Given the description of an element on the screen output the (x, y) to click on. 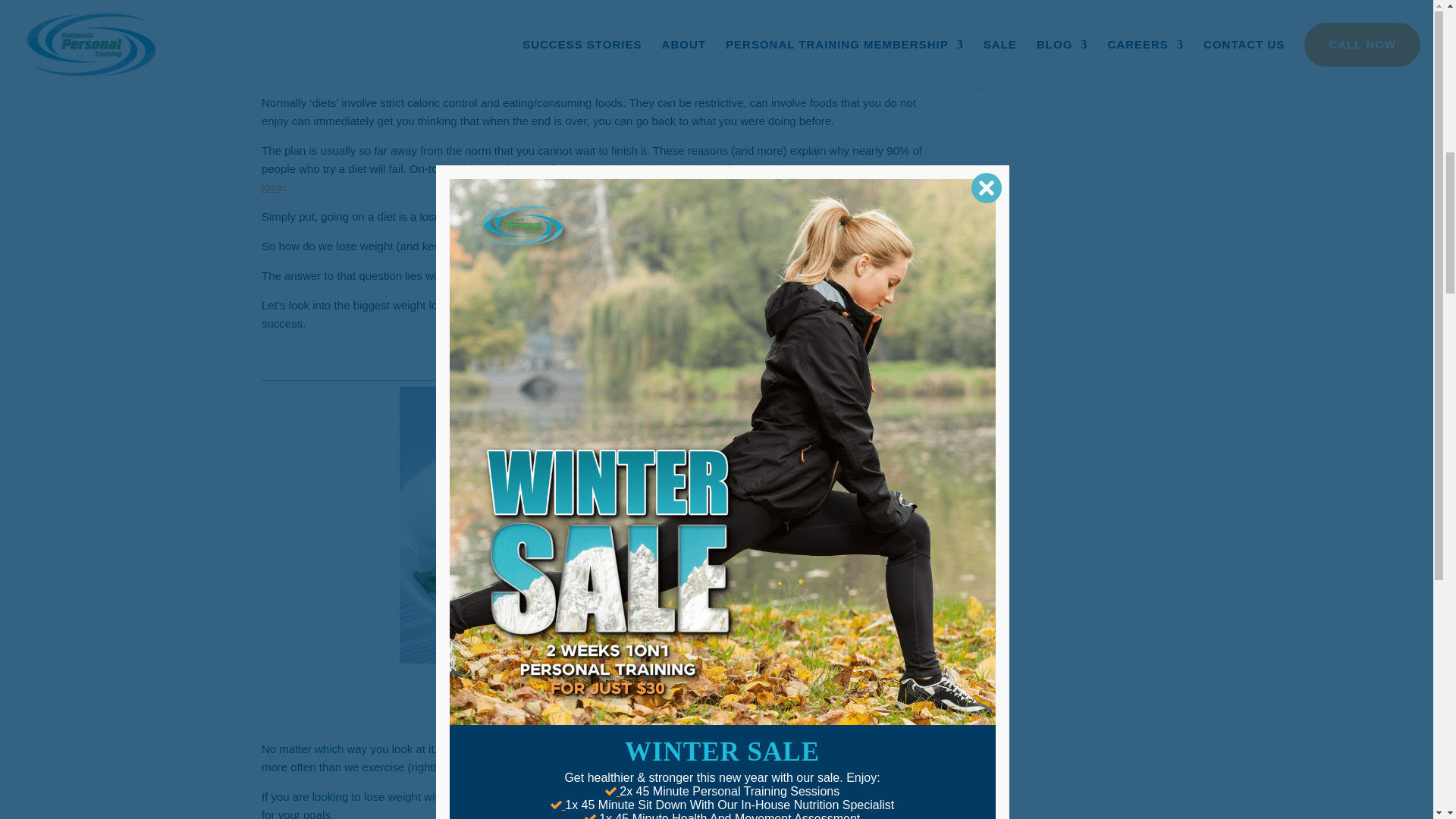
gain back more weight than they will lose (591, 177)
Register now (879, 268)
